Given the description of an element on the screen output the (x, y) to click on. 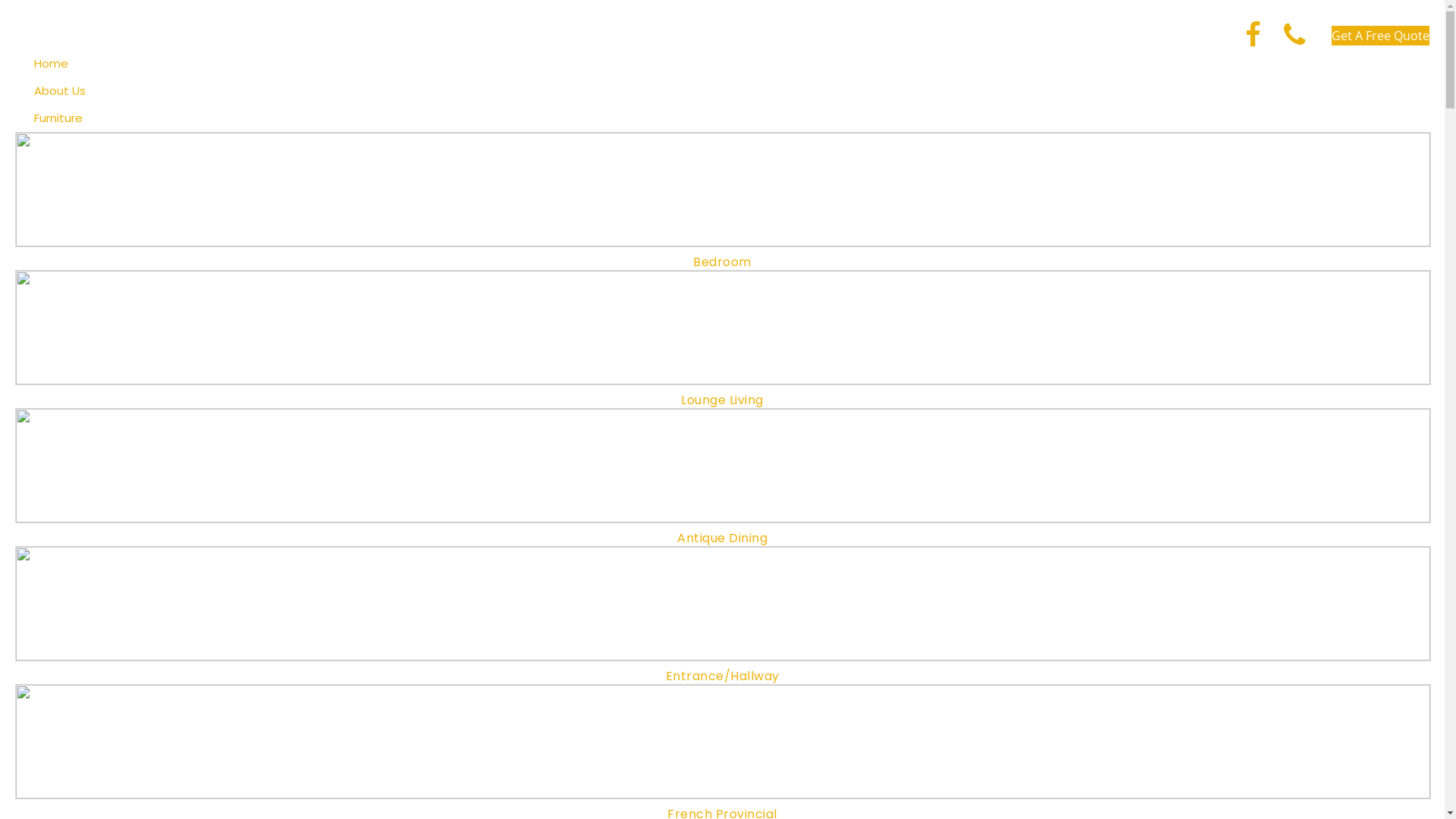
Antique Dining Element type: text (722, 476)
Home Element type: text (51, 63)
Lounge Living Element type: text (722, 338)
About Us Element type: text (59, 90)
Get A Free Quote Element type: text (1380, 35)
Bedroom Element type: text (722, 200)
Furniture Element type: text (58, 117)
Entrance/Hallway Element type: text (722, 615)
